Given the description of an element on the screen output the (x, y) to click on. 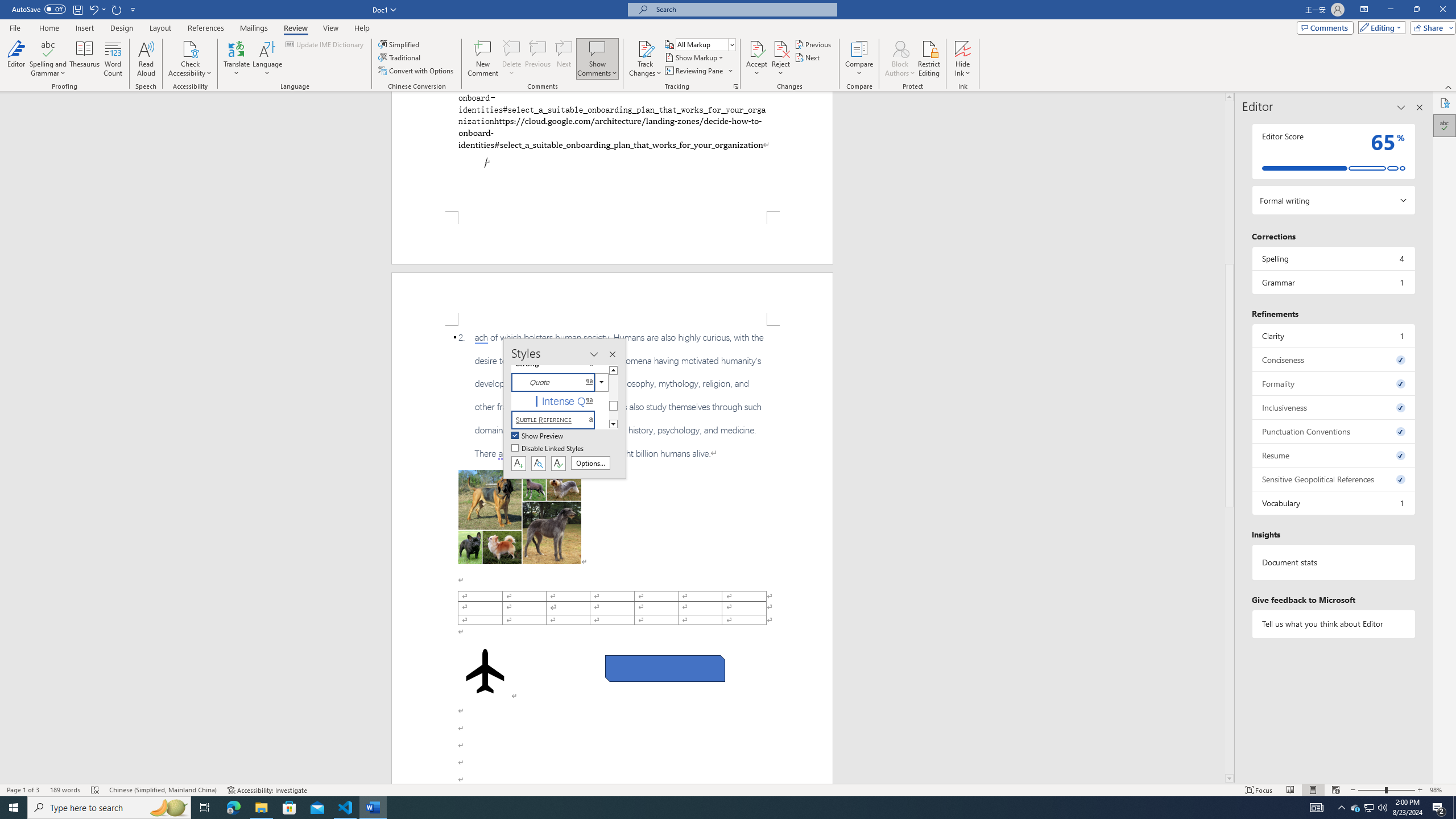
New Comment (482, 58)
Previous (813, 44)
Tell us what you think about Editor (1333, 624)
Block Authors (900, 48)
Show Markup (695, 56)
Undo Style (96, 9)
Clarity, 1 issue. Press space or enter to review items. (1333, 335)
Spelling and Grammar Check Errors (94, 790)
Update IME Dictionary... (324, 44)
Restrict Editing (929, 58)
